Given the description of an element on the screen output the (x, y) to click on. 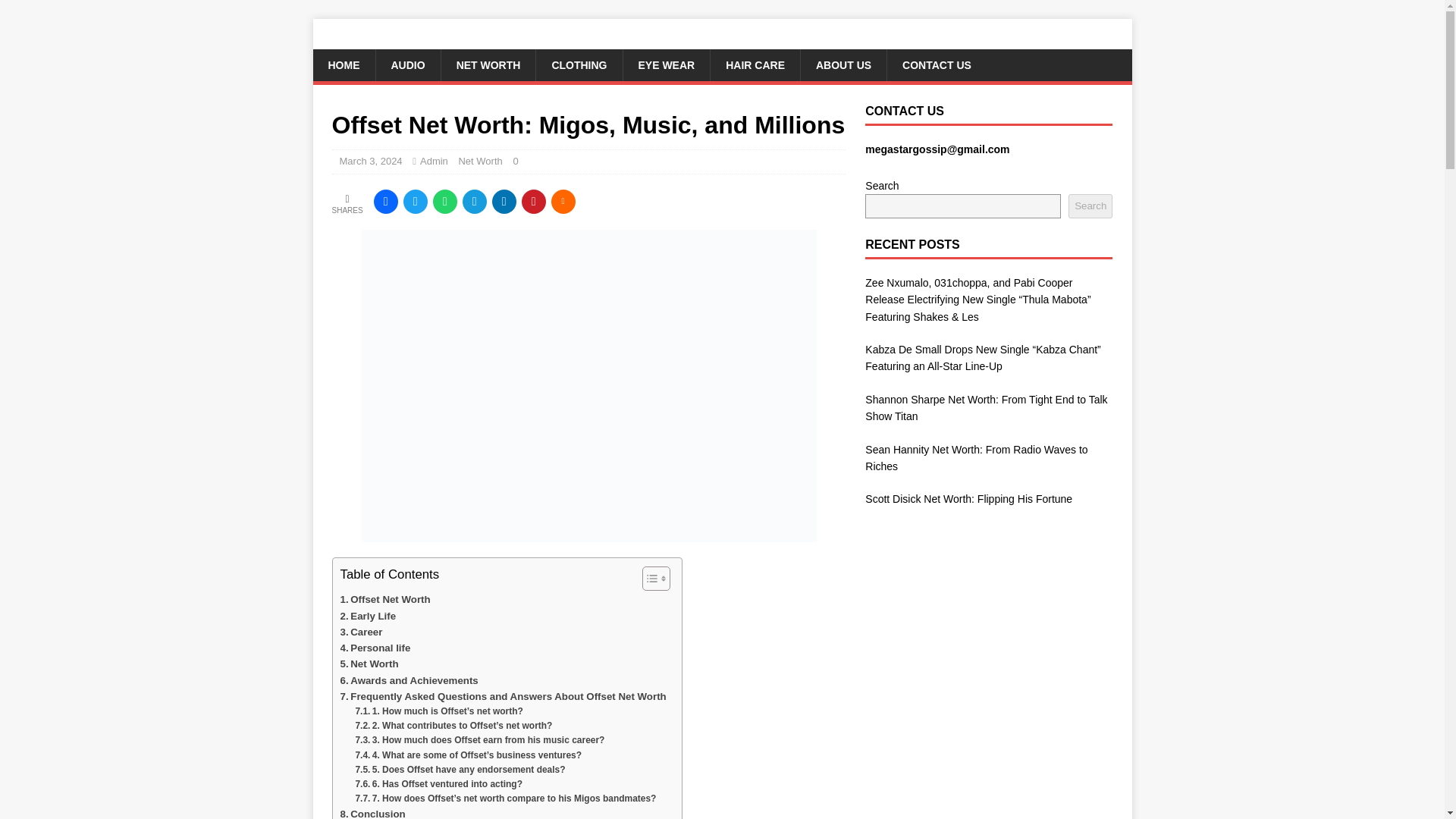
Career (360, 631)
3. How much does Offset earn from his music career? (479, 740)
Early Life (367, 616)
Awards and Achievements (408, 680)
Net Worth (368, 663)
March 3, 2024 (371, 161)
Offset Net Worth (384, 599)
HOME (343, 65)
Net Worth (480, 161)
